Given the description of an element on the screen output the (x, y) to click on. 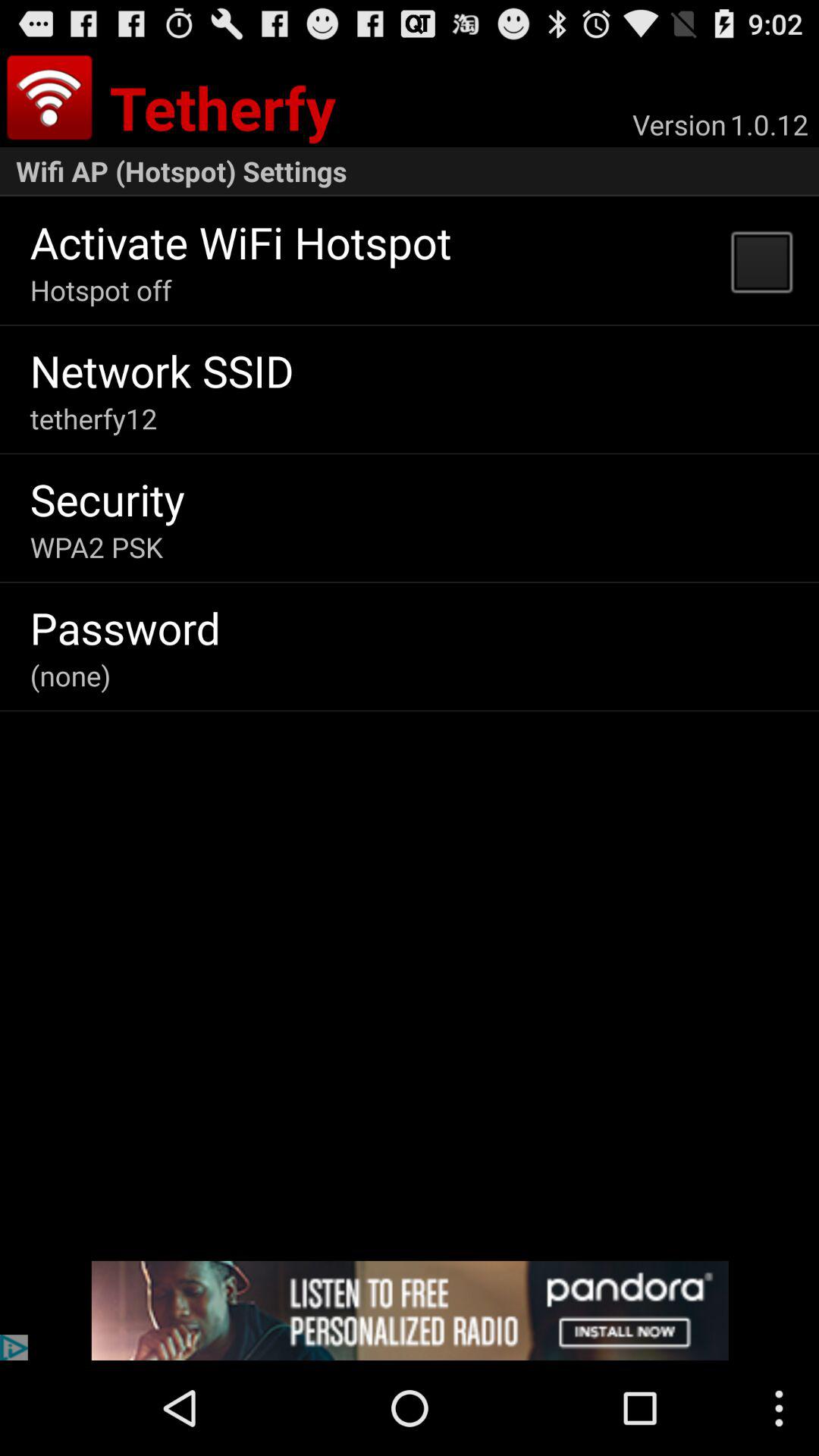
open the security (107, 498)
